Given the description of an element on the screen output the (x, y) to click on. 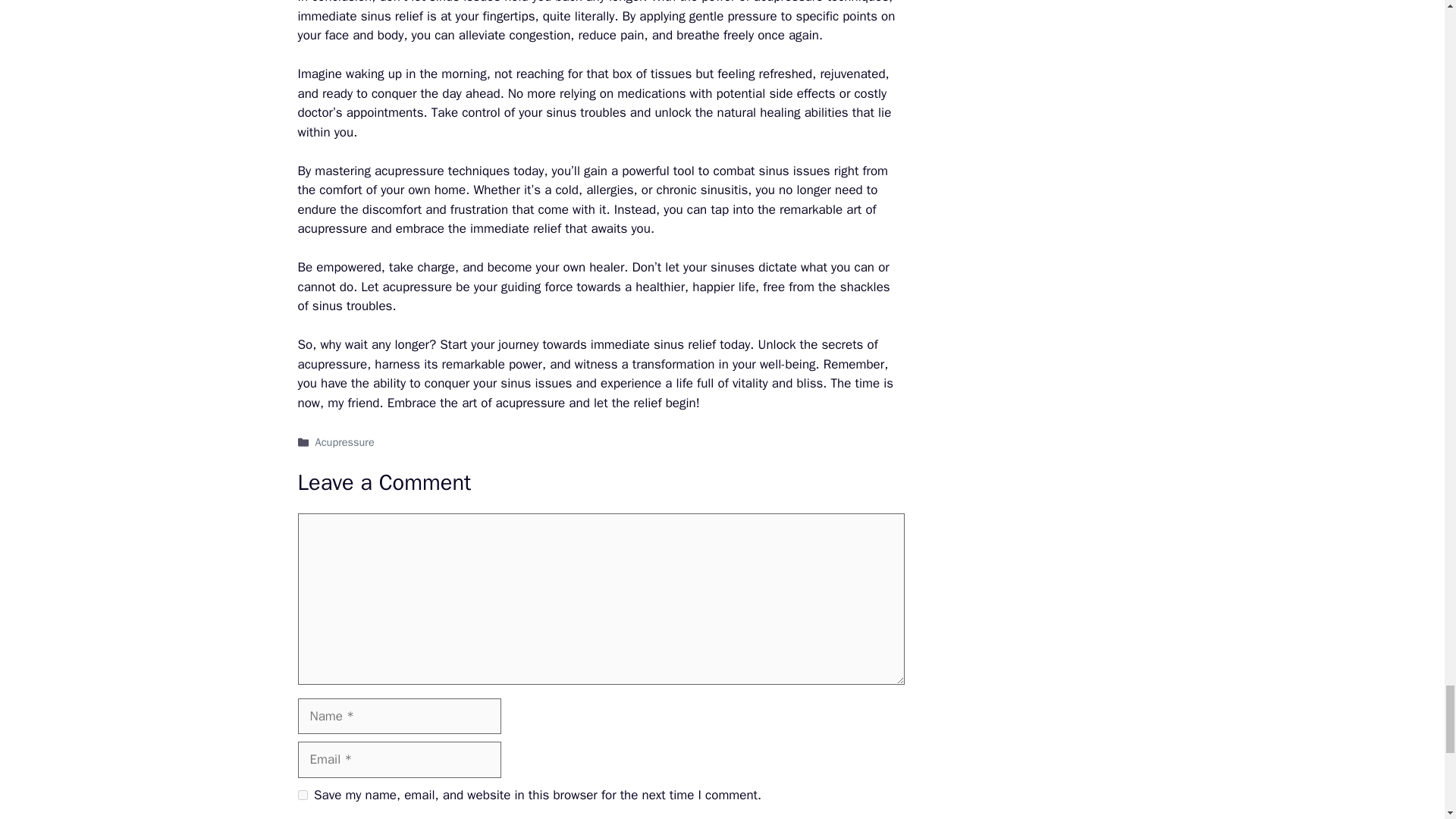
Acupressure (344, 441)
yes (302, 795)
